Given the description of an element on the screen output the (x, y) to click on. 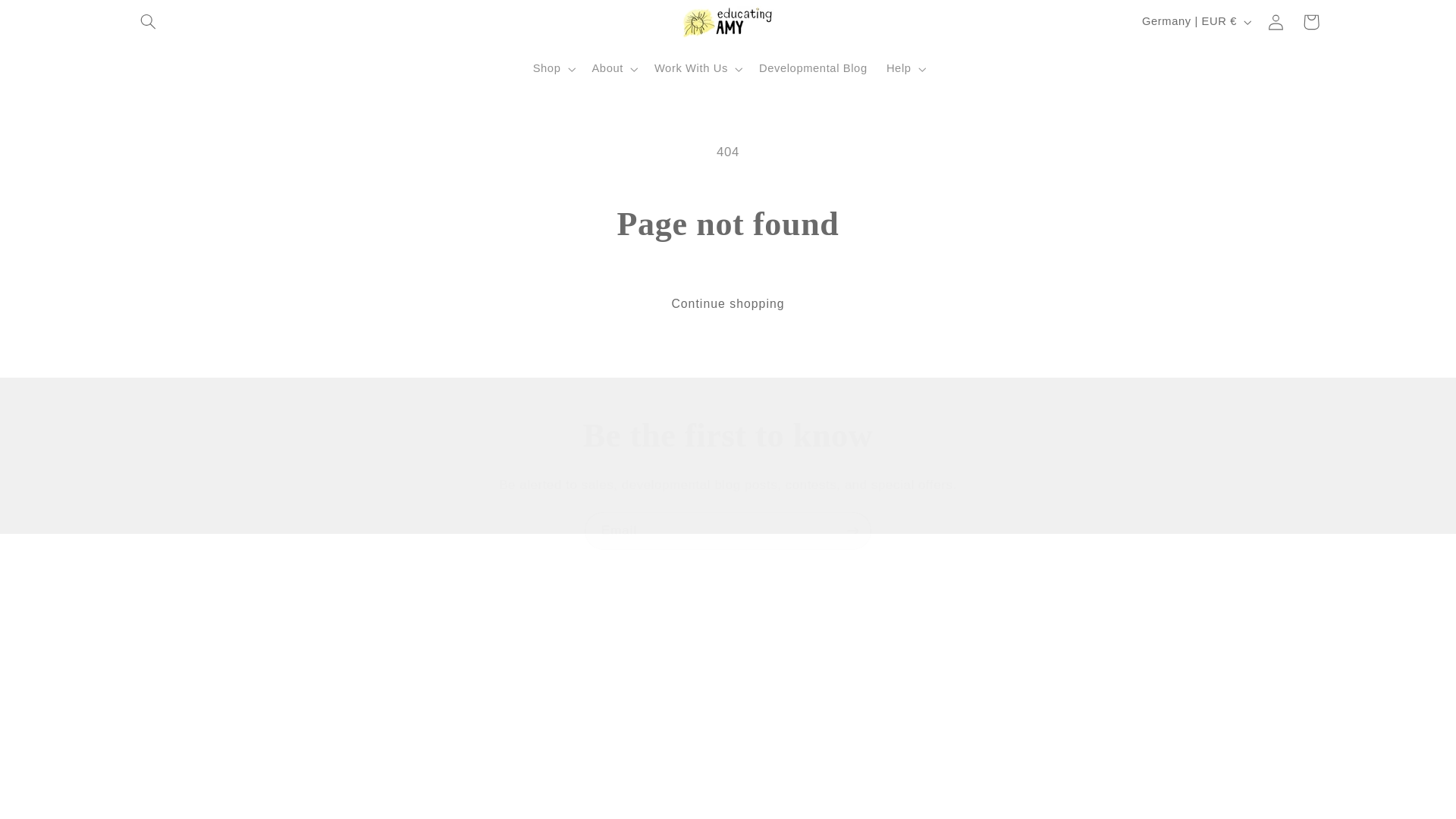
Be the first to know (727, 435)
Skip to content (47, 17)
Email (727, 529)
